Given the description of an element on the screen output the (x, y) to click on. 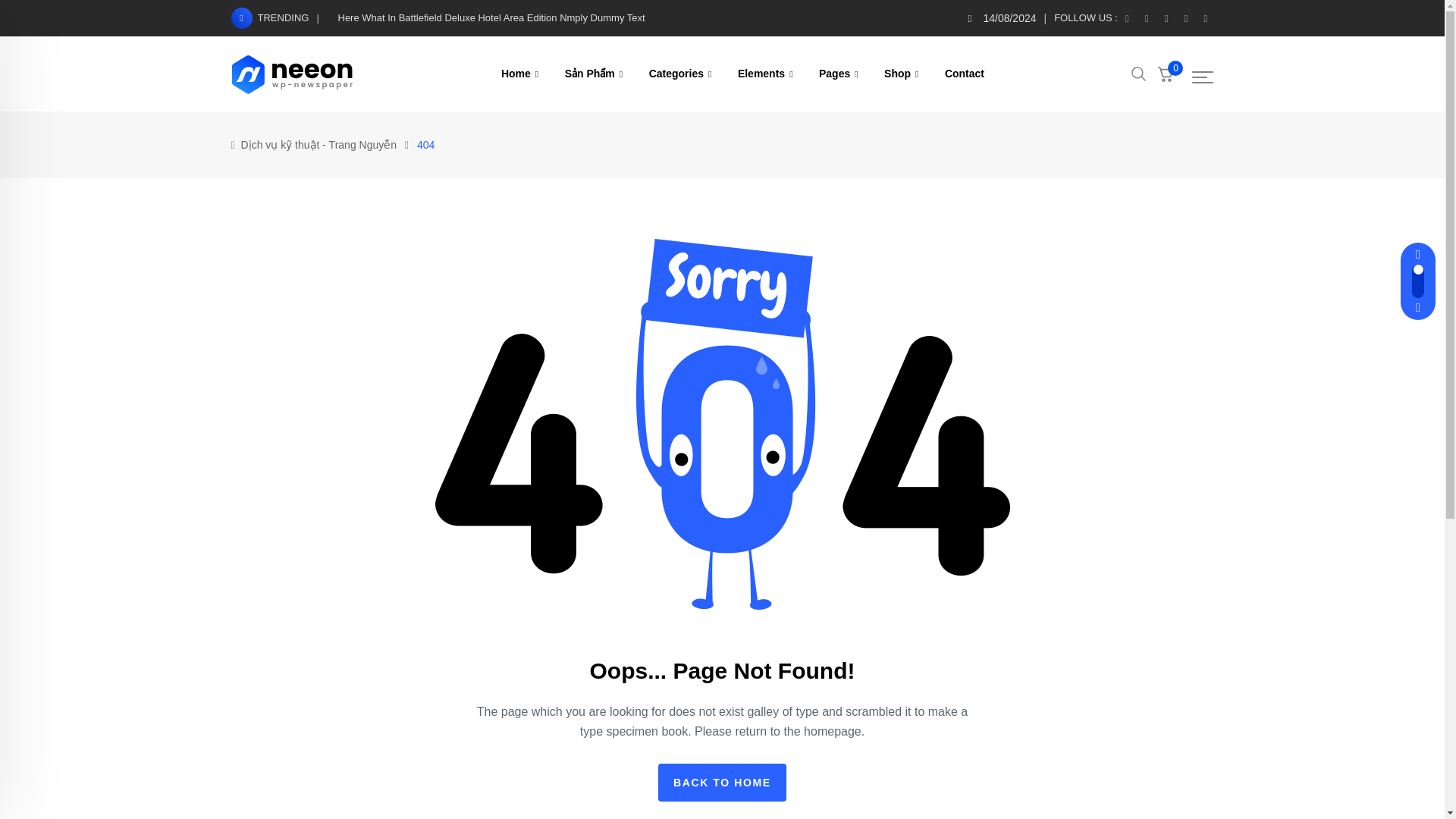
Budget Issues Force The Our To Be Cancelled (1019, 546)
Search (1139, 72)
View your shopping cart (1165, 73)
